Given the description of an element on the screen output the (x, y) to click on. 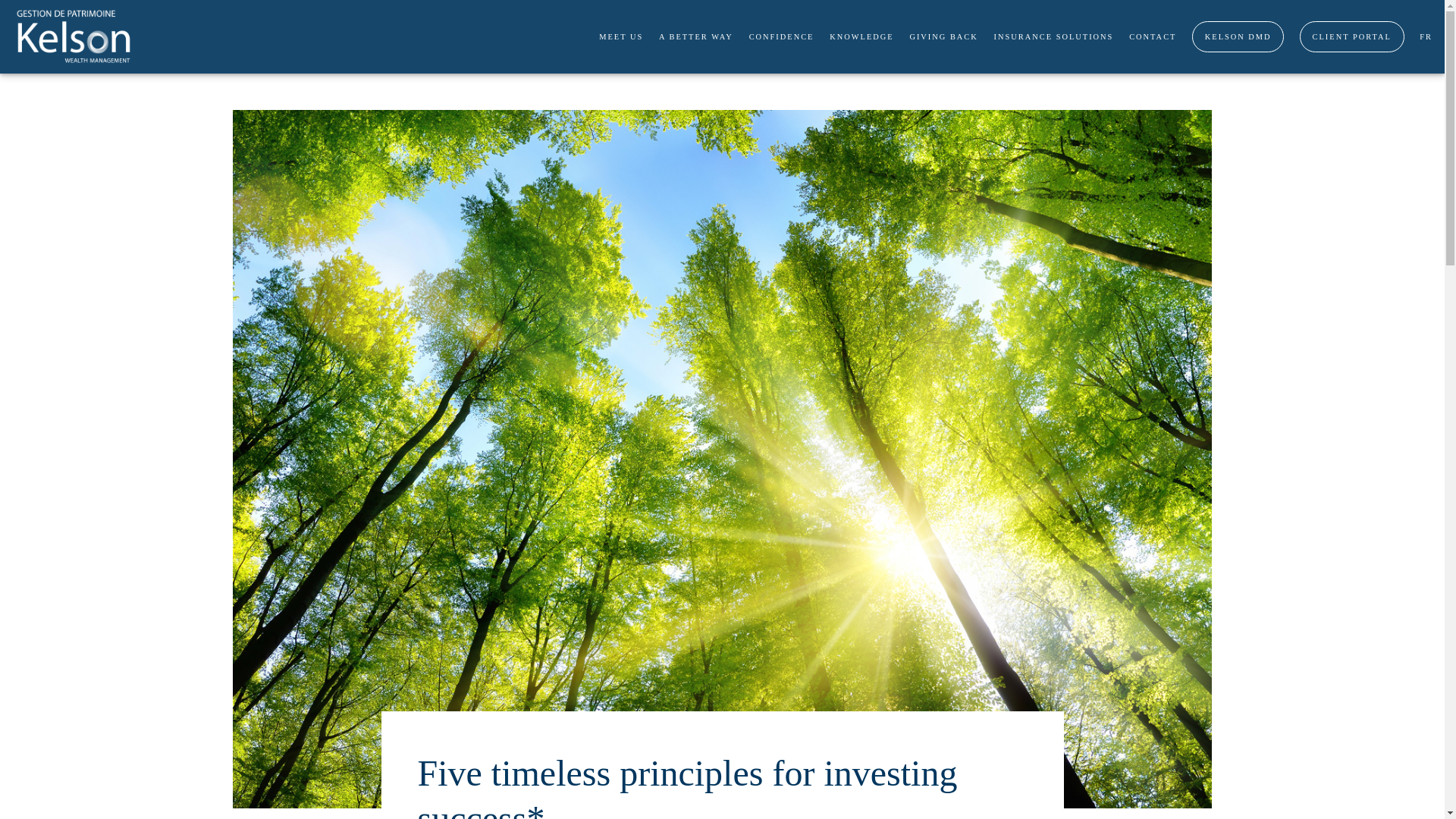
CONFIDENCE (781, 36)
KNOWLEDGE (861, 36)
INSURANCE SOLUTIONS (1053, 36)
MEET US (620, 36)
A BETTER WAY (696, 36)
GIVING BACK (942, 36)
CLIENT PORTAL (1352, 36)
KELSON DMD (1238, 36)
CONTACT (1152, 36)
